Given the description of an element on the screen output the (x, y) to click on. 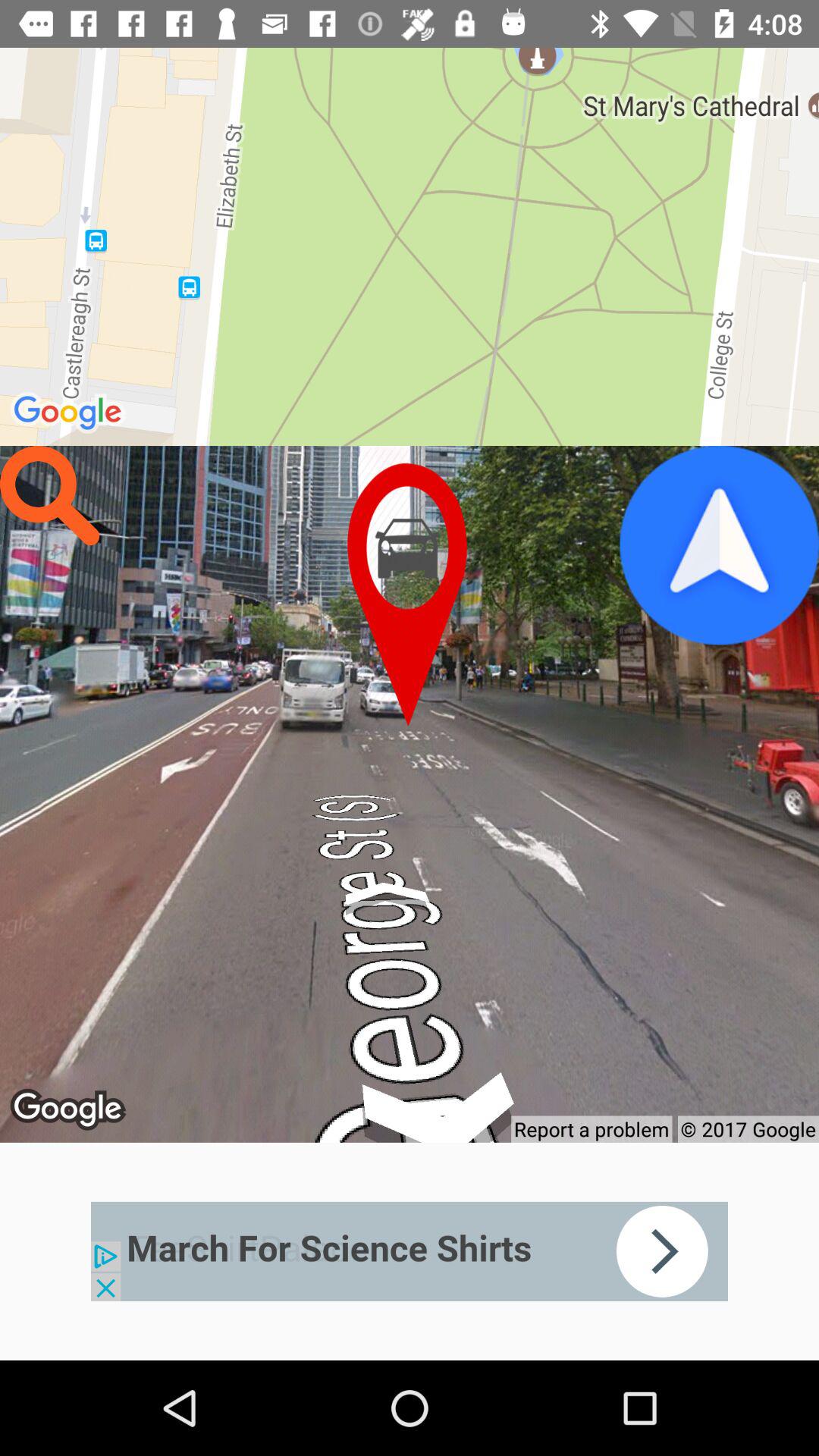
click on advertisements (409, 1251)
